Given the description of an element on the screen output the (x, y) to click on. 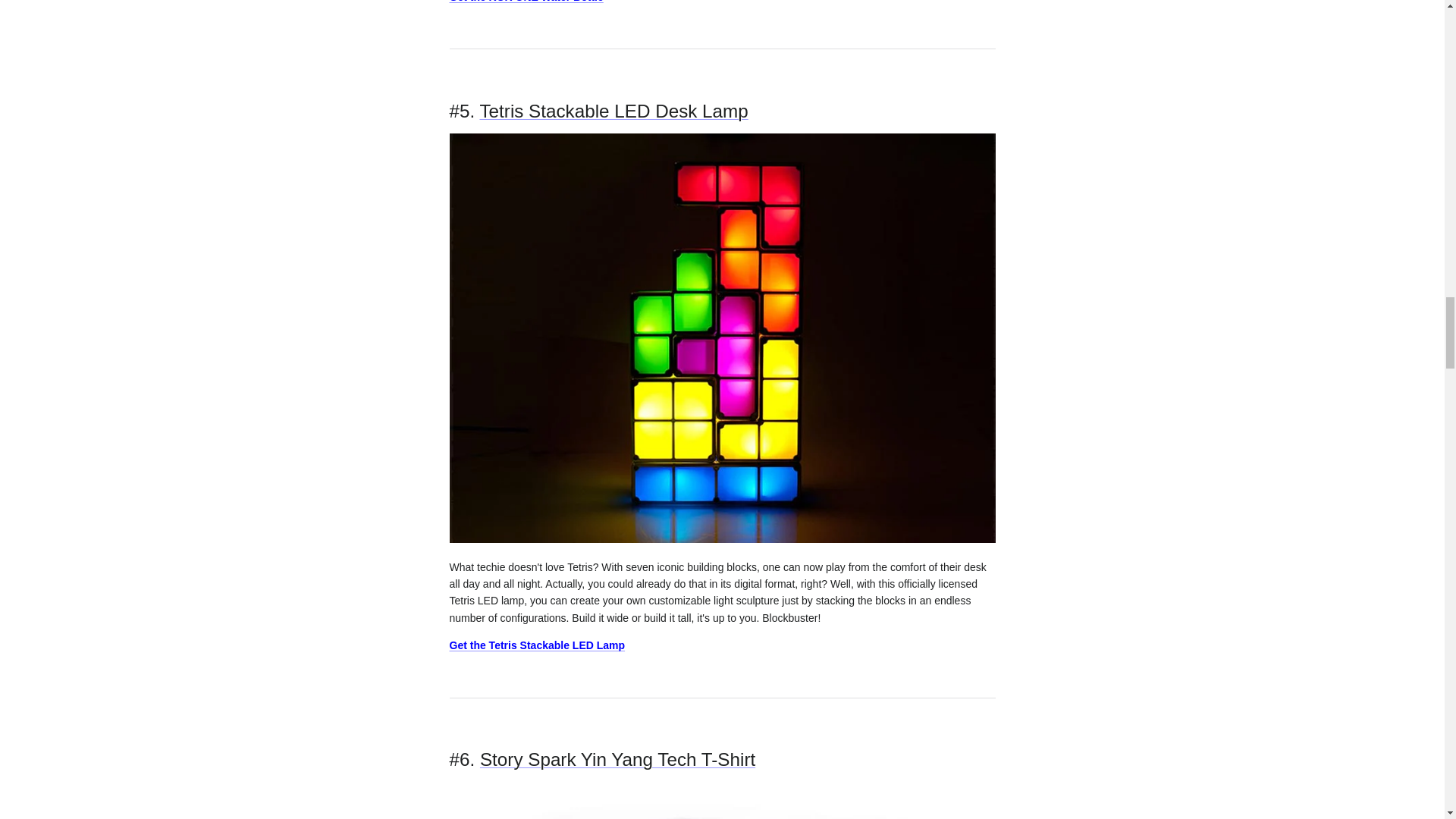
Story Spark Yin Yang Tshirt (617, 759)
KOR ONE Water Bottle (525, 1)
Tetris Stackable LED Lamp (536, 645)
Tetris Stackable LED Light (721, 539)
Tetris Stackable LED Desk Lamp (613, 110)
